Given the description of an element on the screen output the (x, y) to click on. 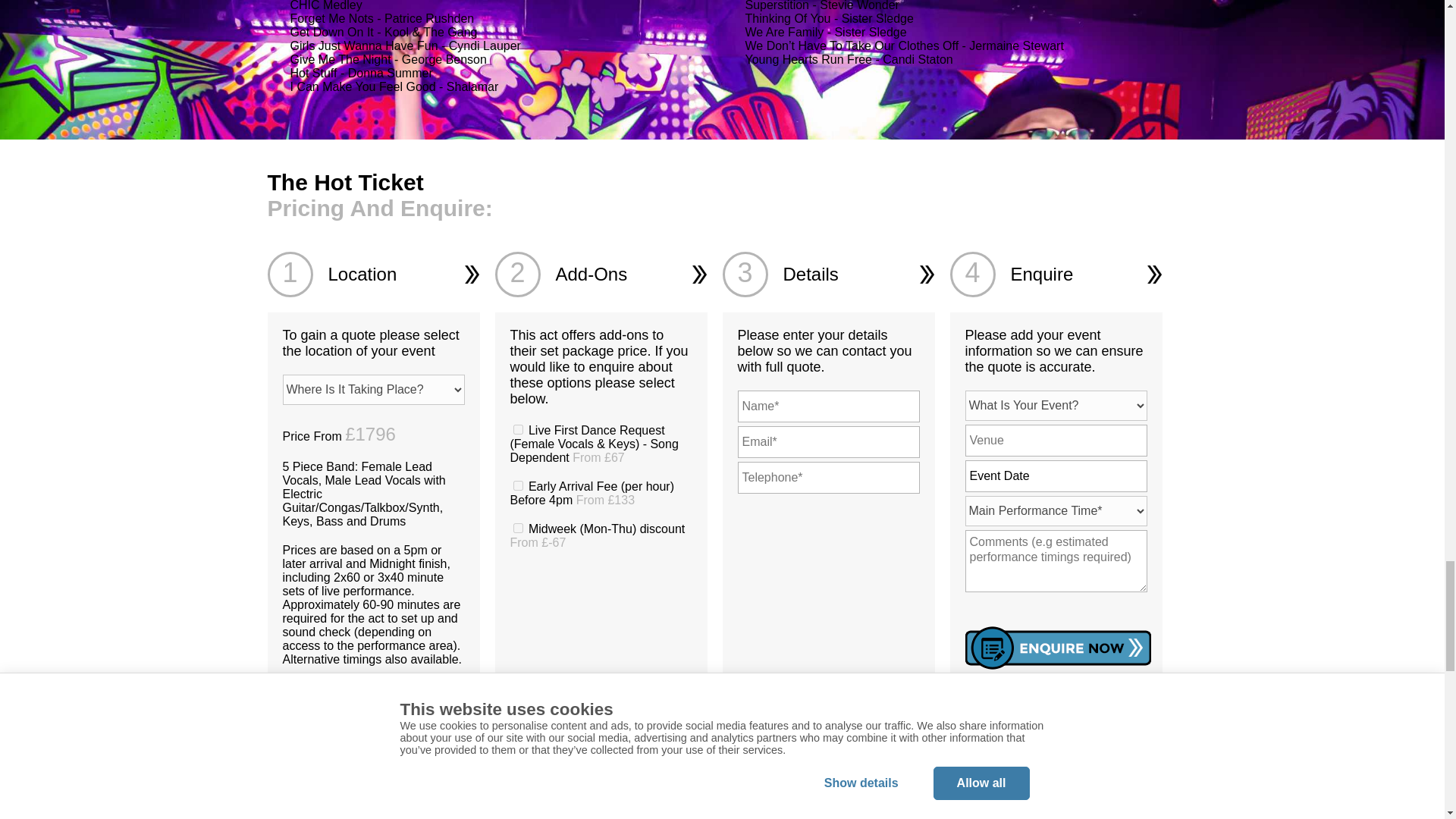
7292 (517, 429)
242 (517, 528)
6207 (517, 485)
